Given the description of an element on the screen output the (x, y) to click on. 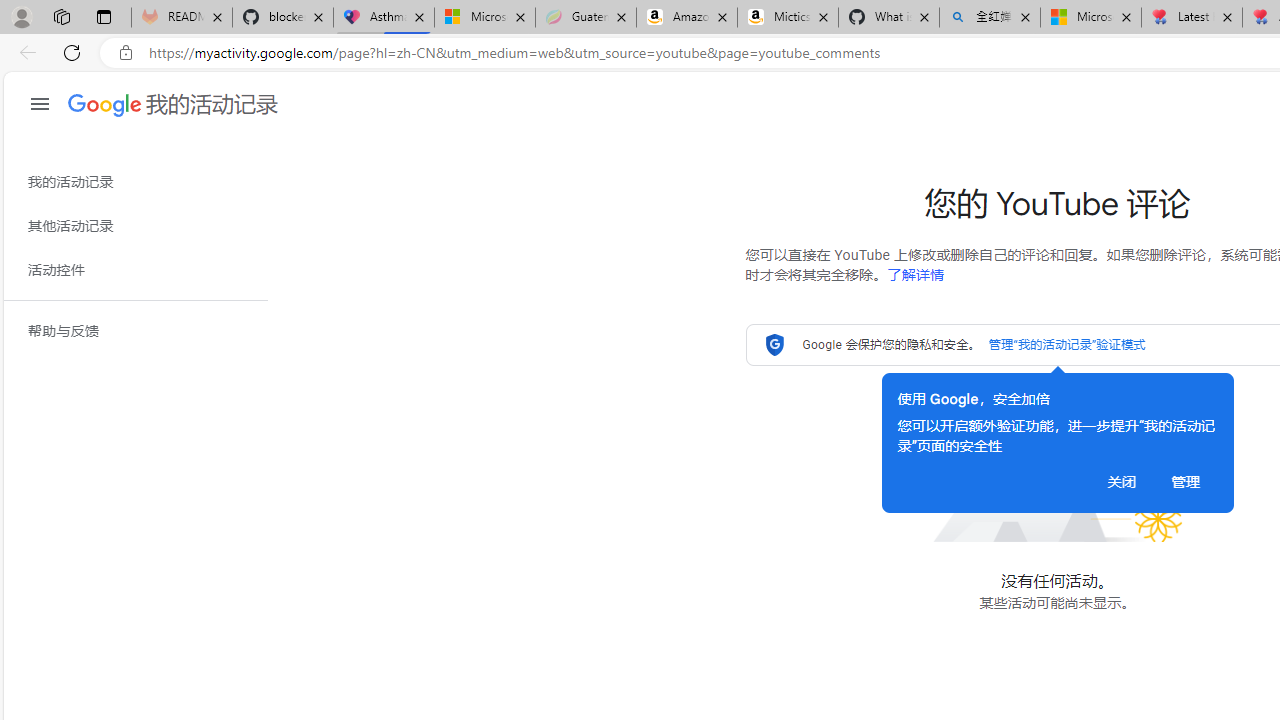
Asthma Inhalers: Names and Types (383, 17)
